Given the description of an element on the screen output the (x, y) to click on. 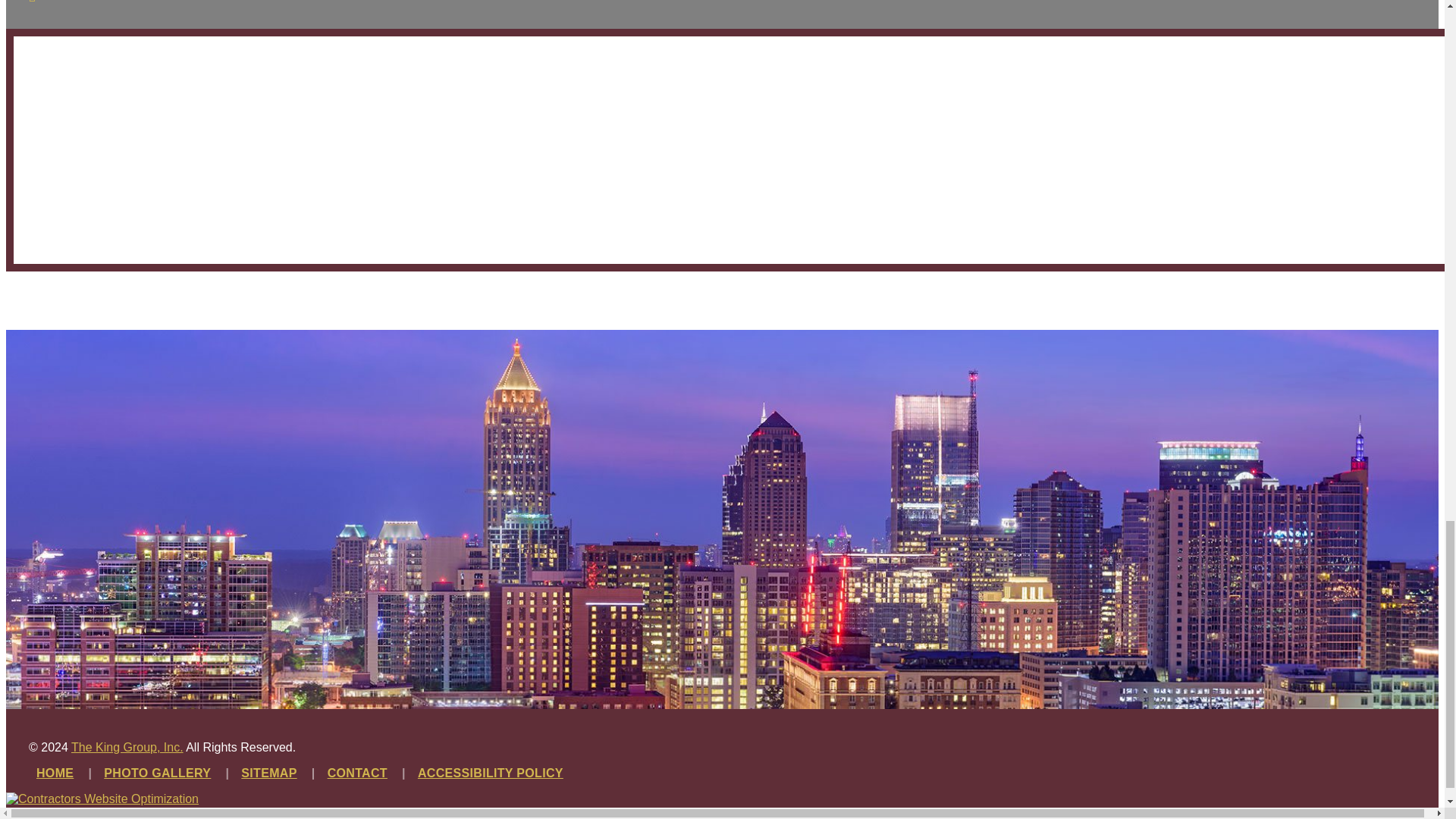
Atlanta SEO Consultants (105, 798)
